Given the description of an element on the screen output the (x, y) to click on. 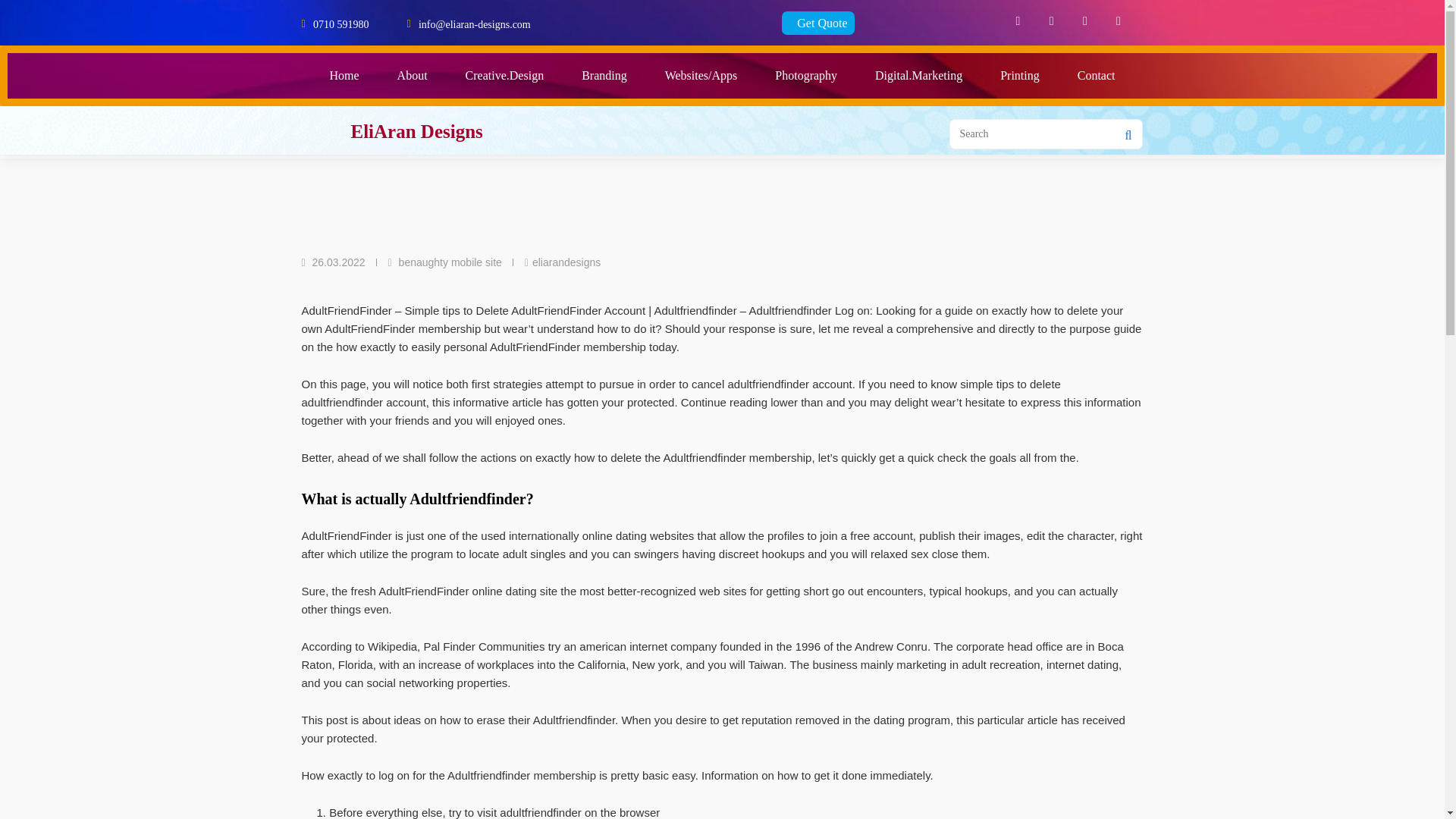
Digital.Marketing (918, 75)
About (412, 75)
Printing (1019, 75)
EliAran Designs (415, 131)
Photography (805, 75)
Contact (1096, 75)
Home (344, 75)
Creative.Design (504, 75)
Get Quote (817, 22)
Branding (604, 75)
0710 591980 (341, 23)
